Given the description of an element on the screen output the (x, y) to click on. 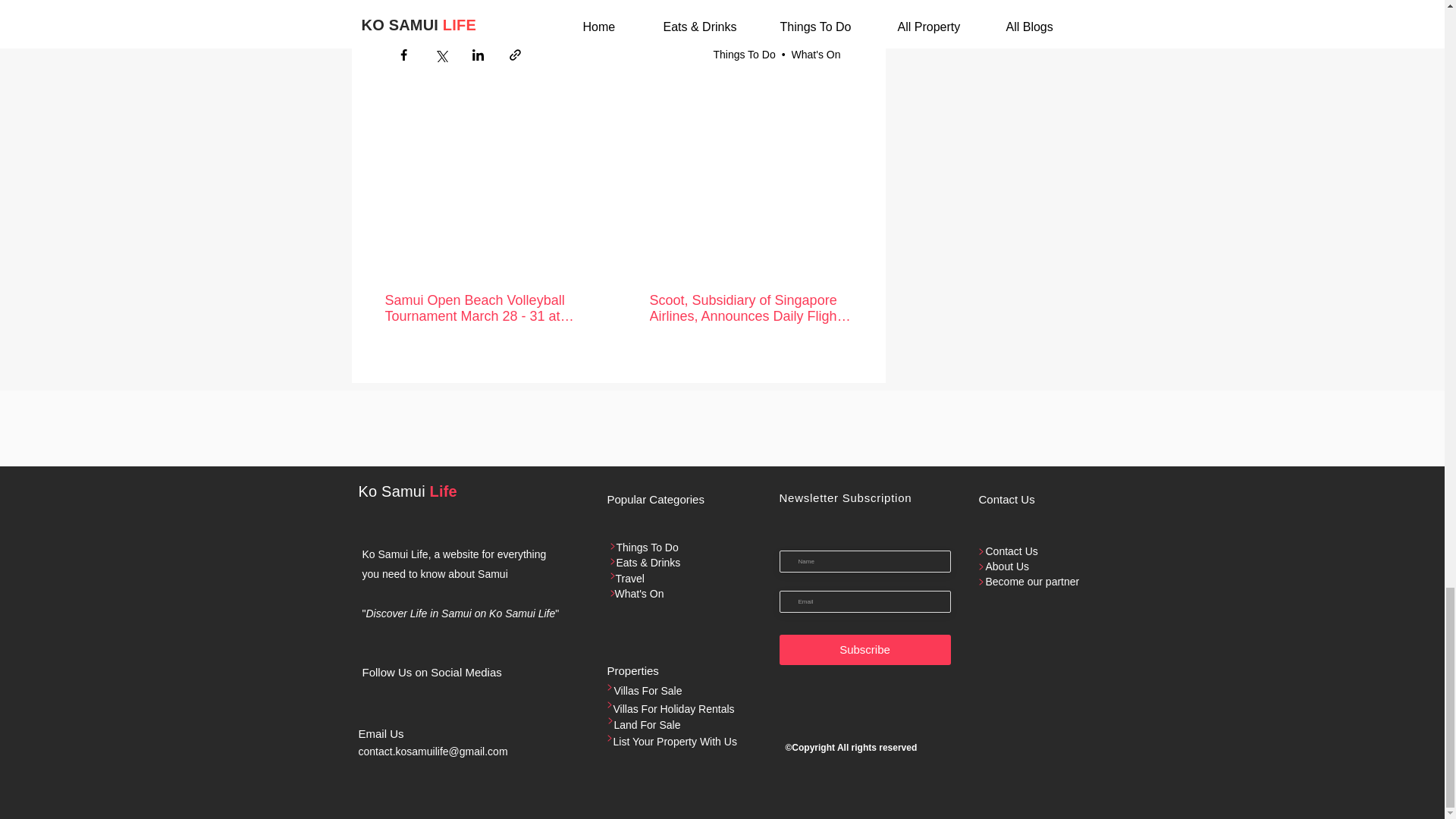
Things To Do (743, 54)
What's On (816, 54)
